Given the description of an element on the screen output the (x, y) to click on. 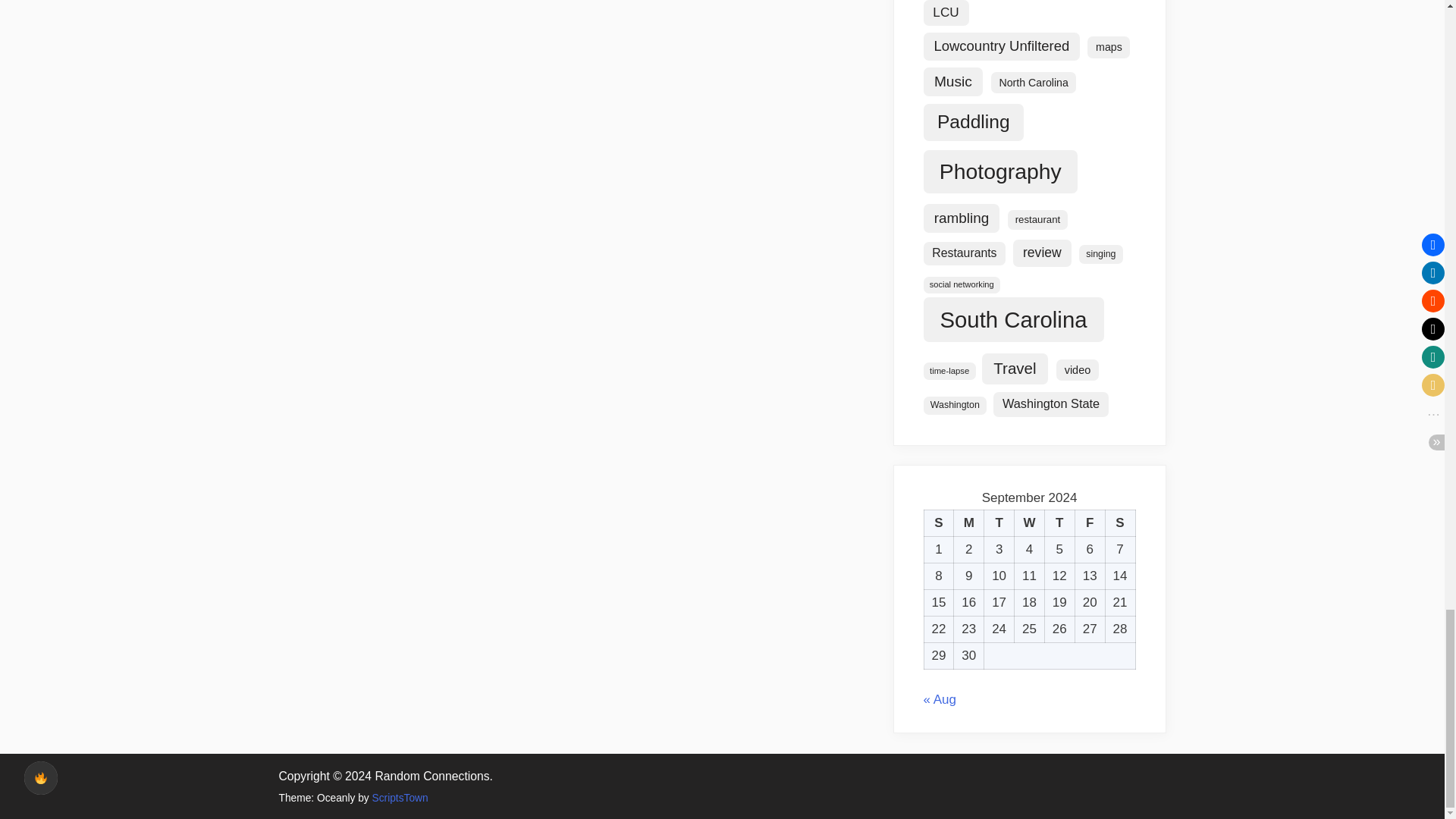
Wednesday (1029, 523)
Friday (1089, 523)
Thursday (1058, 523)
Sunday (938, 523)
Monday (968, 523)
Tuesday (999, 523)
Saturday (1120, 523)
